Given the description of an element on the screen output the (x, y) to click on. 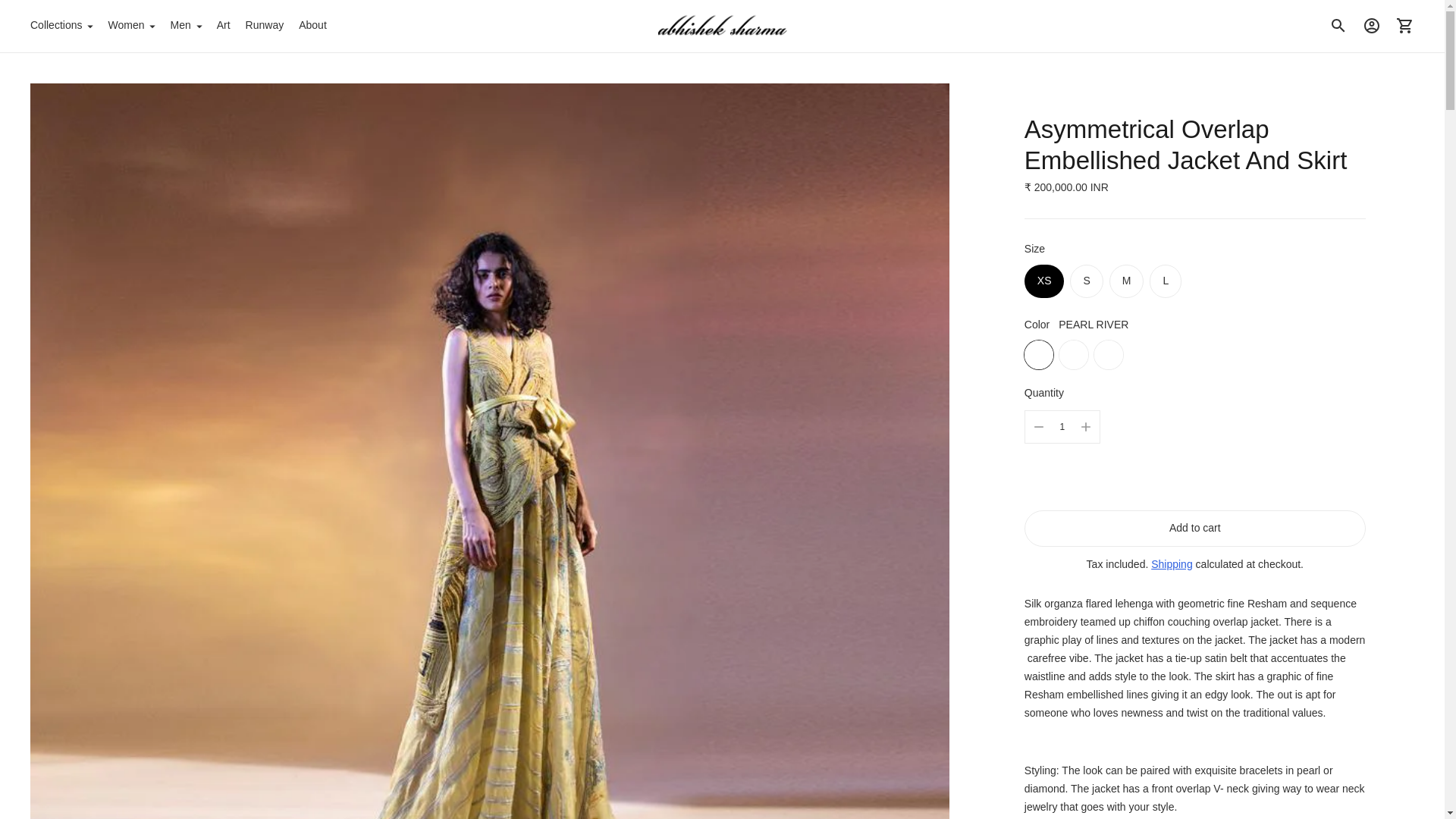
Collections (61, 25)
Cart (1405, 25)
Runway (264, 25)
Men (185, 25)
Search (1338, 25)
Account (1372, 25)
Women (130, 25)
